Given the description of an element on the screen output the (x, y) to click on. 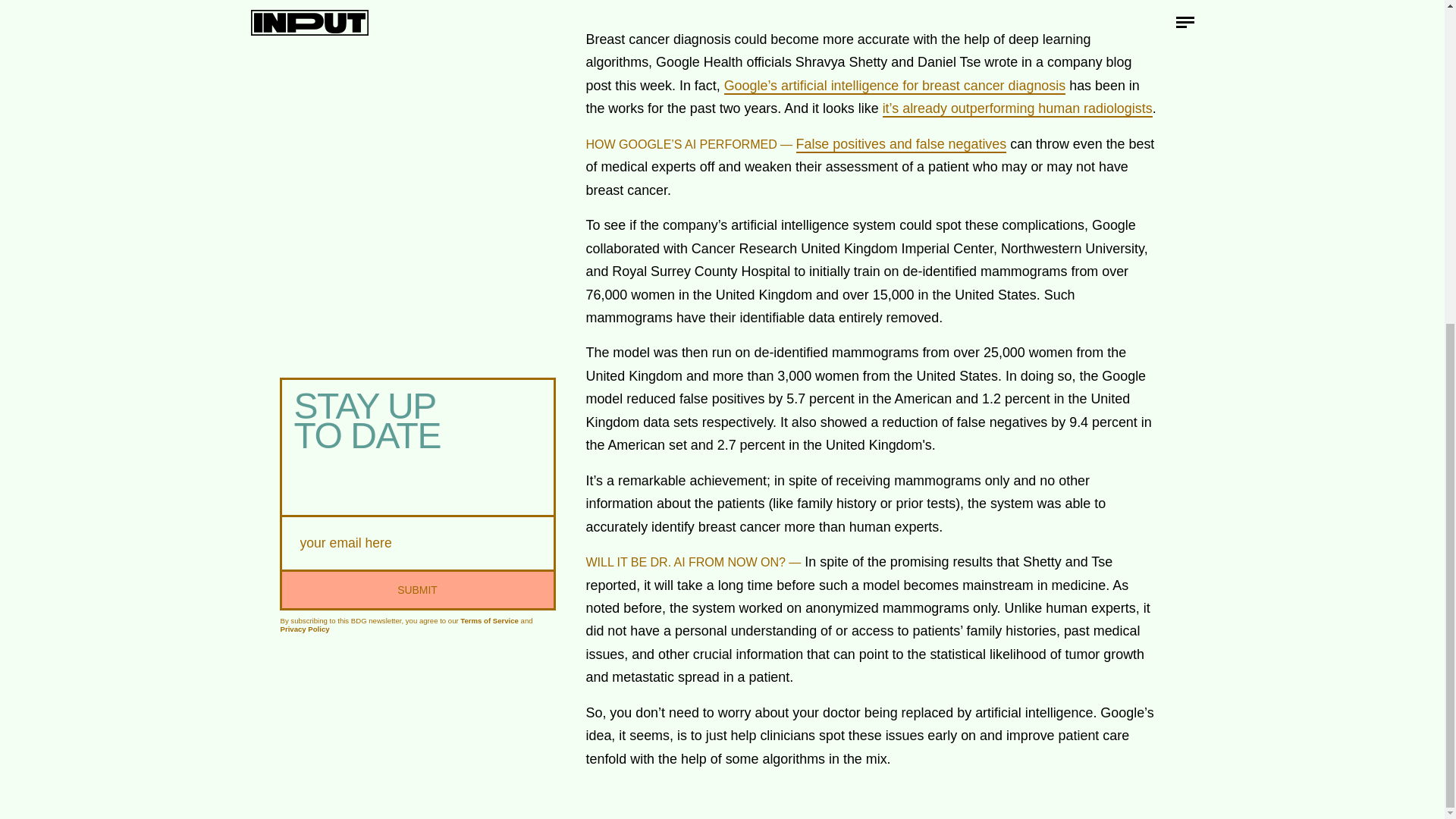
False positives and false negatives (901, 144)
SUBMIT (417, 585)
Terms of Service (489, 618)
Privacy Policy (305, 627)
